Given the description of an element on the screen output the (x, y) to click on. 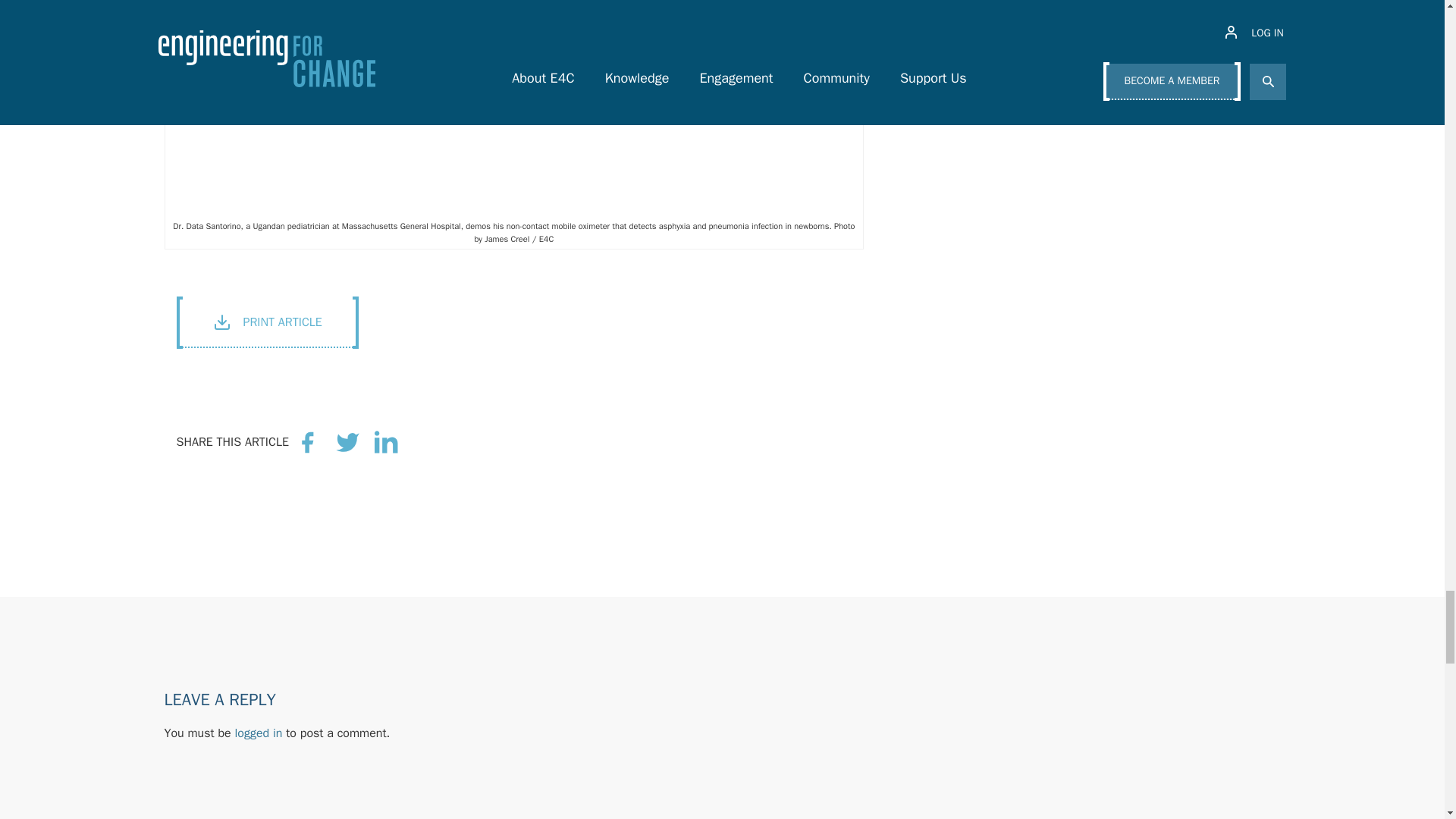
linkedin (387, 441)
facebook (308, 441)
twitter (347, 441)
